Given the description of an element on the screen output the (x, y) to click on. 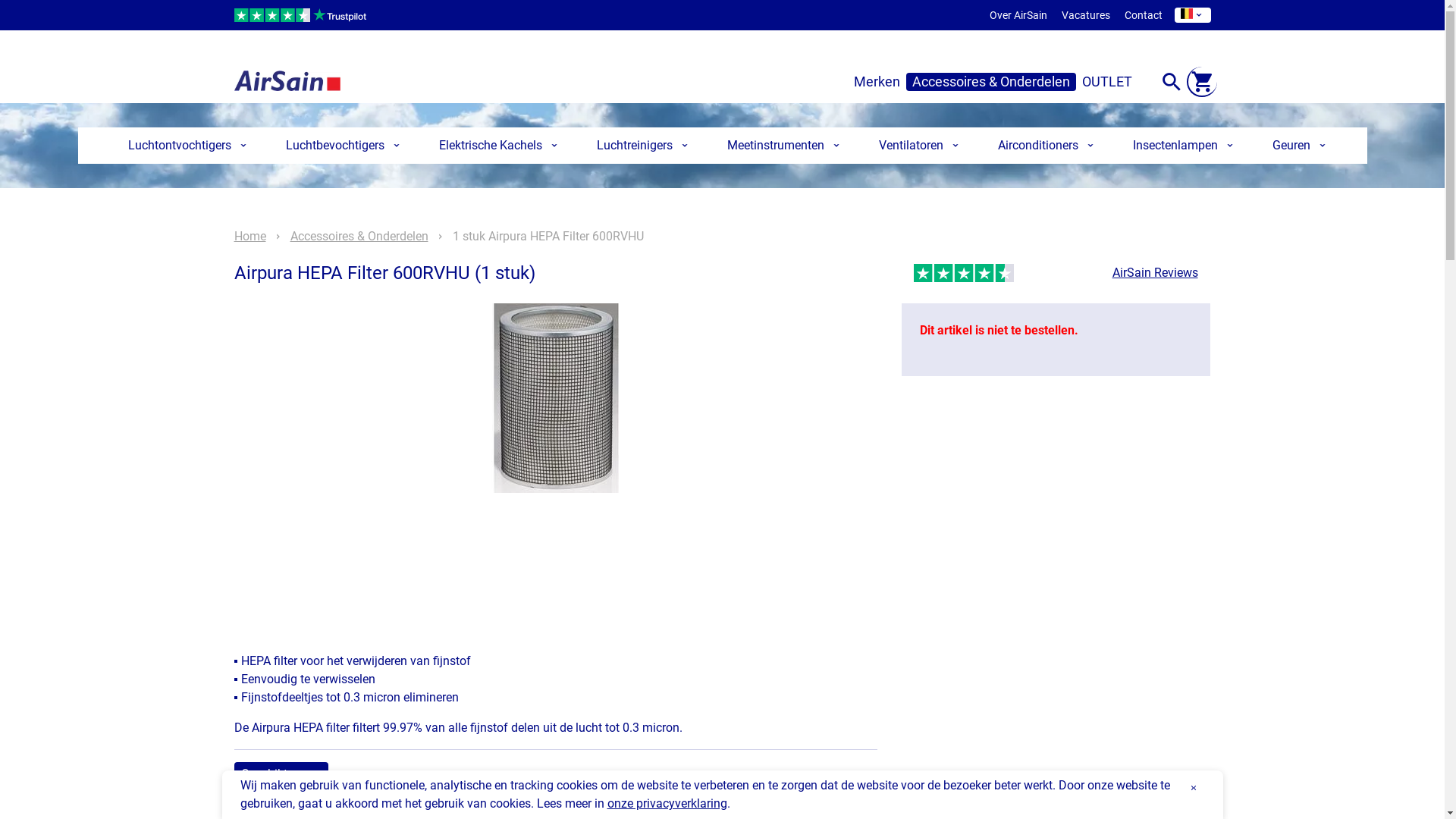
Meetinstrumenten Element type: text (778, 145)
Geuren Element type: text (1294, 145)
Insectenlampen Element type: text (1178, 145)
Ventilatoren Element type: text (913, 145)
Over AirSain Element type: text (1017, 15)
Home Element type: text (249, 236)
Airconditioners Element type: text (1040, 145)
OUTLET Element type: text (1106, 81)
AirSain Reviews Element type: text (1154, 272)
Elektrische Kachels Element type: text (493, 145)
Accessoires & Onderdelen Element type: text (358, 236)
Accessoires & Onderdelen Element type: text (990, 81)
Vacatures Element type: text (1085, 15)
Geschikt voor Element type: text (280, 774)
Luchtontvochtigers Element type: text (182, 145)
Luchtbevochtigers Element type: text (337, 145)
Www.airsain.be homepage Element type: hover (286, 75)
Contact Element type: text (1142, 15)
Luchtreinigers Element type: text (637, 145)
Merken Element type: text (876, 81)
onze privacyverklaring Element type: text (666, 803)
